Given the description of an element on the screen output the (x, y) to click on. 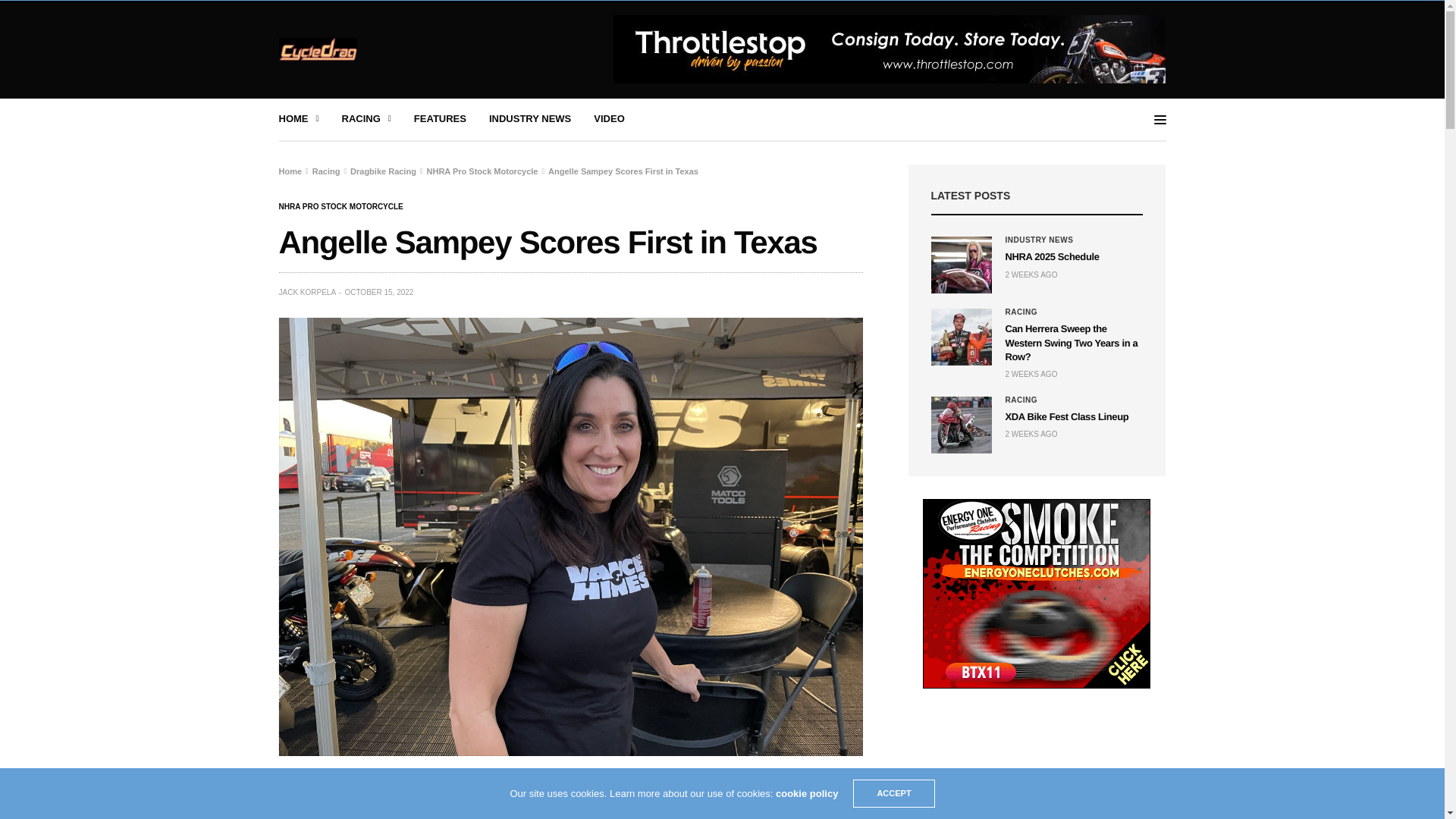
Dragbike Racing (383, 171)
JACK KORPELA (307, 292)
NHRA PRO STOCK MOTORCYCLE (341, 206)
Industry News (1040, 240)
Racing (326, 171)
Posts by Jack Korpela (307, 292)
INDUSTRY NEWS (529, 119)
HOME (298, 119)
NHRA Pro Stock Motorcycle (341, 206)
RACING (366, 119)
NHRA 2025 Schedule (961, 264)
Racing (1021, 312)
Home (290, 171)
Can Herrera Sweep the Western Swing Two Years in a Row? (1072, 341)
FEATURES (439, 119)
